Given the description of an element on the screen output the (x, y) to click on. 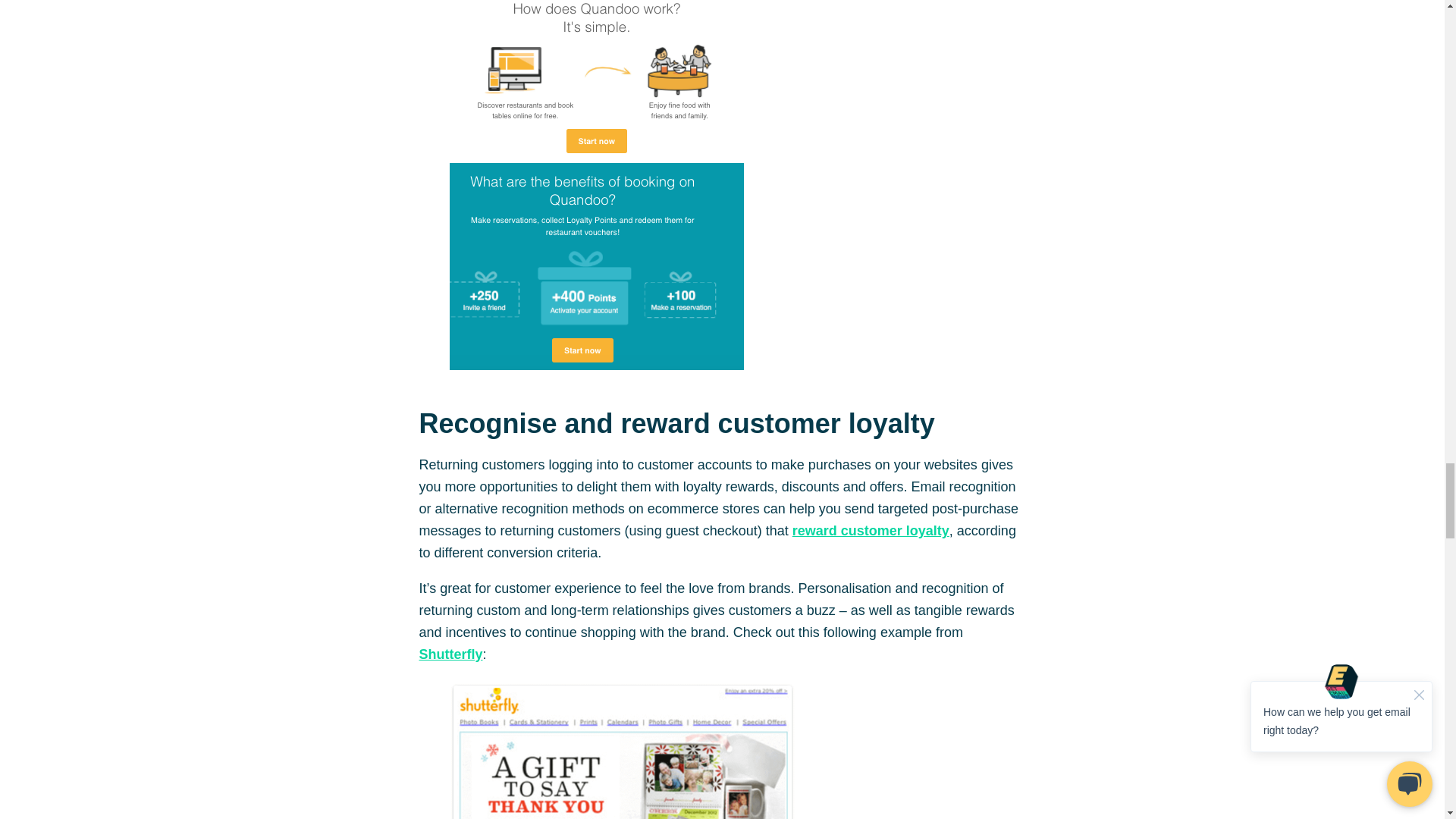
reward customer loyalty (870, 530)
Shutterfly (450, 654)
